Given the description of an element on the screen output the (x, y) to click on. 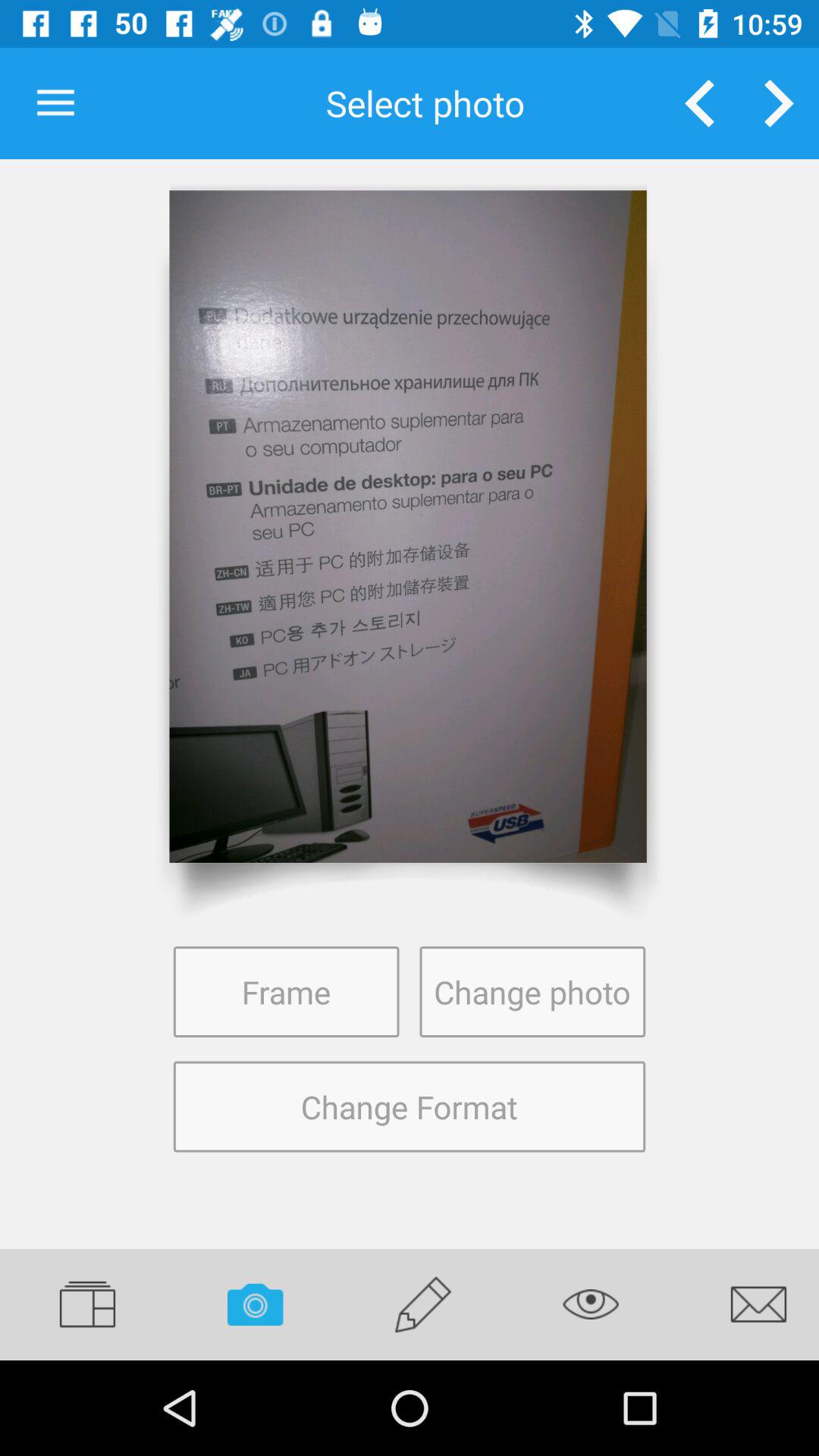
go back (699, 103)
